Given the description of an element on the screen output the (x, y) to click on. 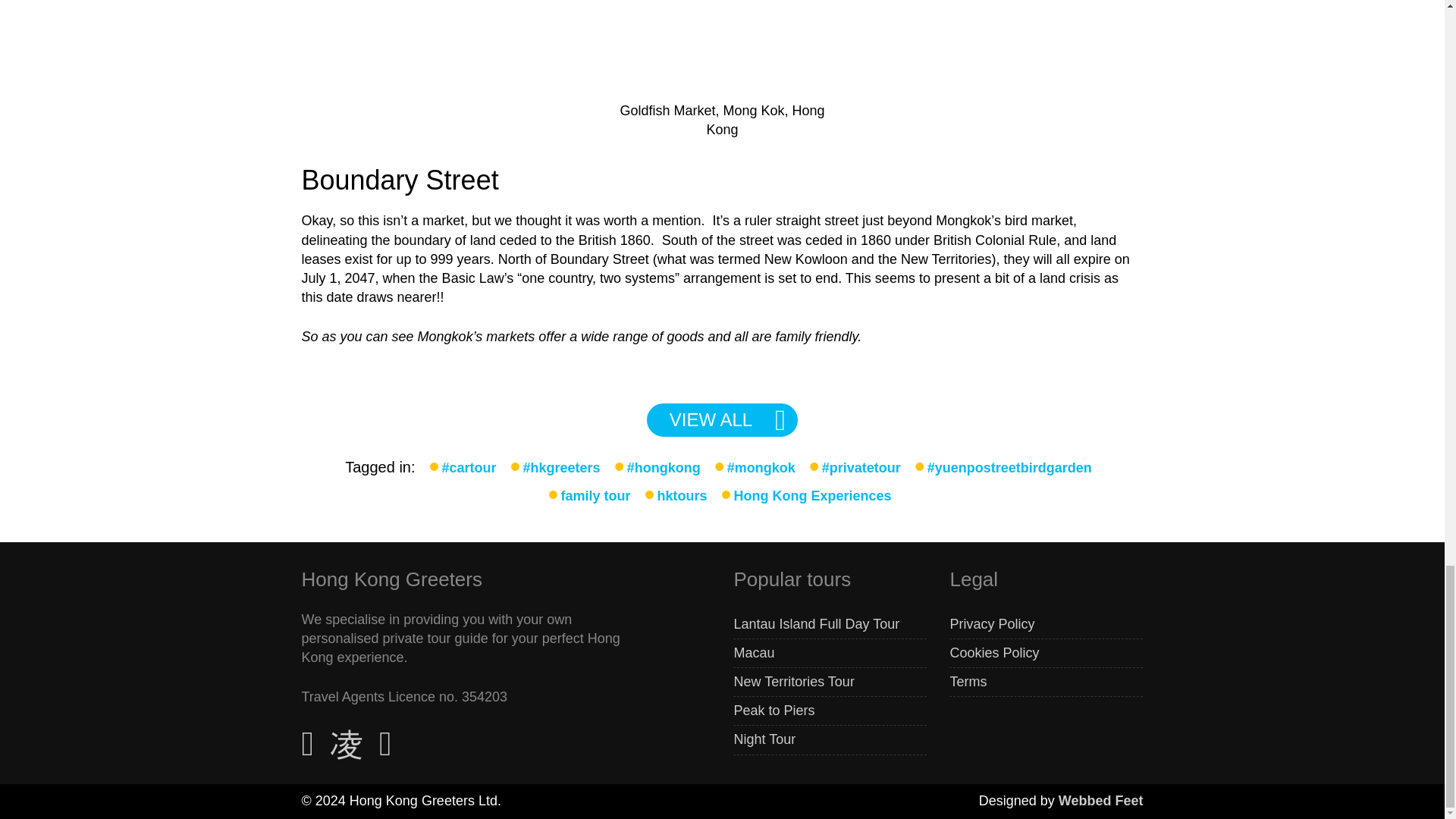
Hong Kong Experiences (812, 496)
VIEW ALL (722, 420)
Lantau Island Full Day Tour (816, 624)
hktours (681, 496)
family tour (595, 496)
